Given the description of an element on the screen output the (x, y) to click on. 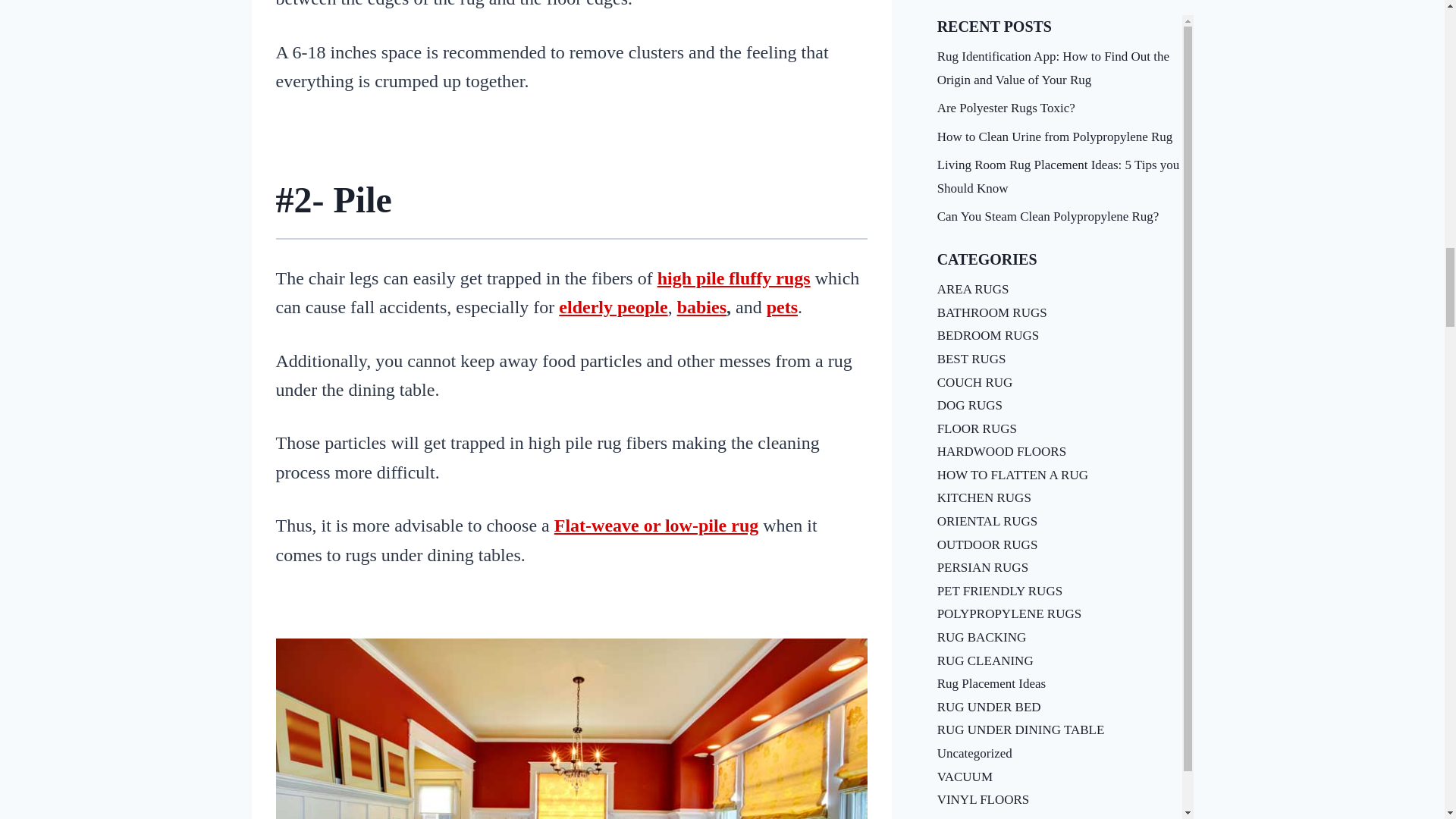
high pile fluffy rugs (734, 278)
